Given the description of an element on the screen output the (x, y) to click on. 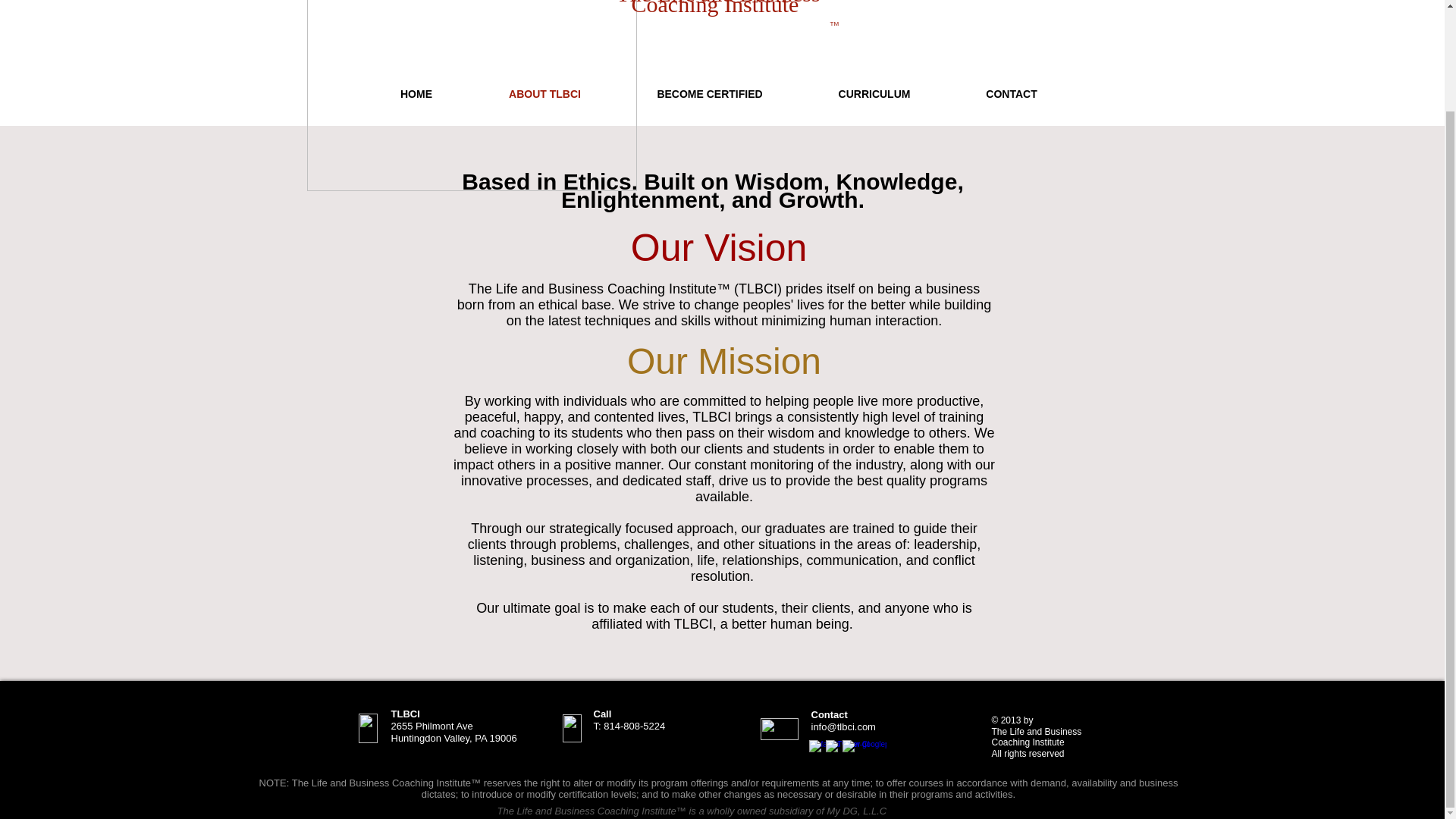
CONTACT (1010, 94)
CURRICULUM (874, 94)
Coaching Institute (713, 8)
ABOUT TLBCI (544, 94)
TLBCI (470, 95)
BECOME CERTIFIED (708, 94)
The Life and Business (717, 2)
HOME (416, 94)
